Given the description of an element on the screen output the (x, y) to click on. 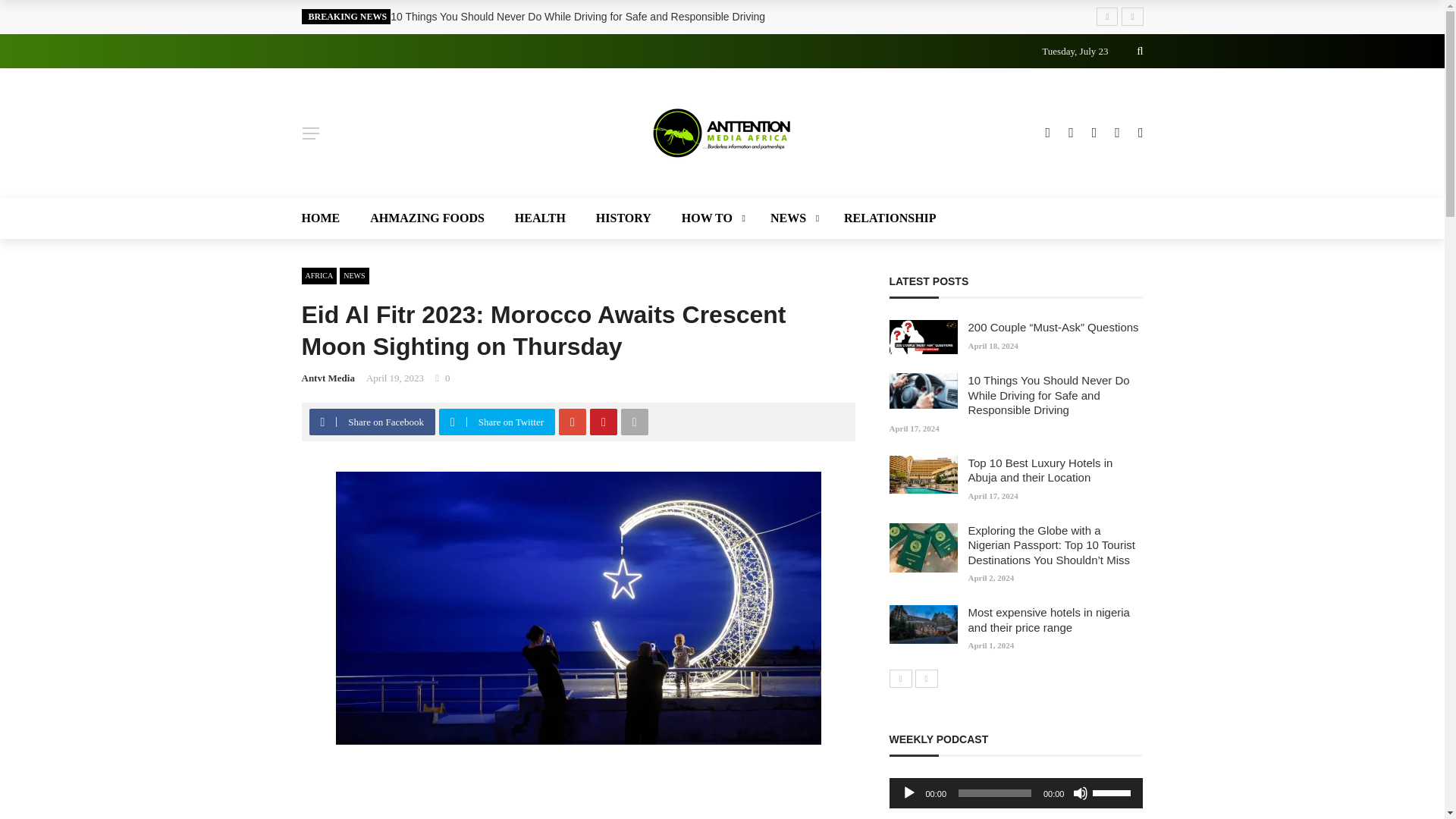
RELATIONSHIP (882, 218)
HOME (328, 218)
HISTORY (623, 218)
HEALTH (539, 218)
HOW TO (710, 218)
AHMAZING FOODS (427, 218)
NEWS (791, 218)
Advertisement (578, 796)
